Given the description of an element on the screen output the (x, y) to click on. 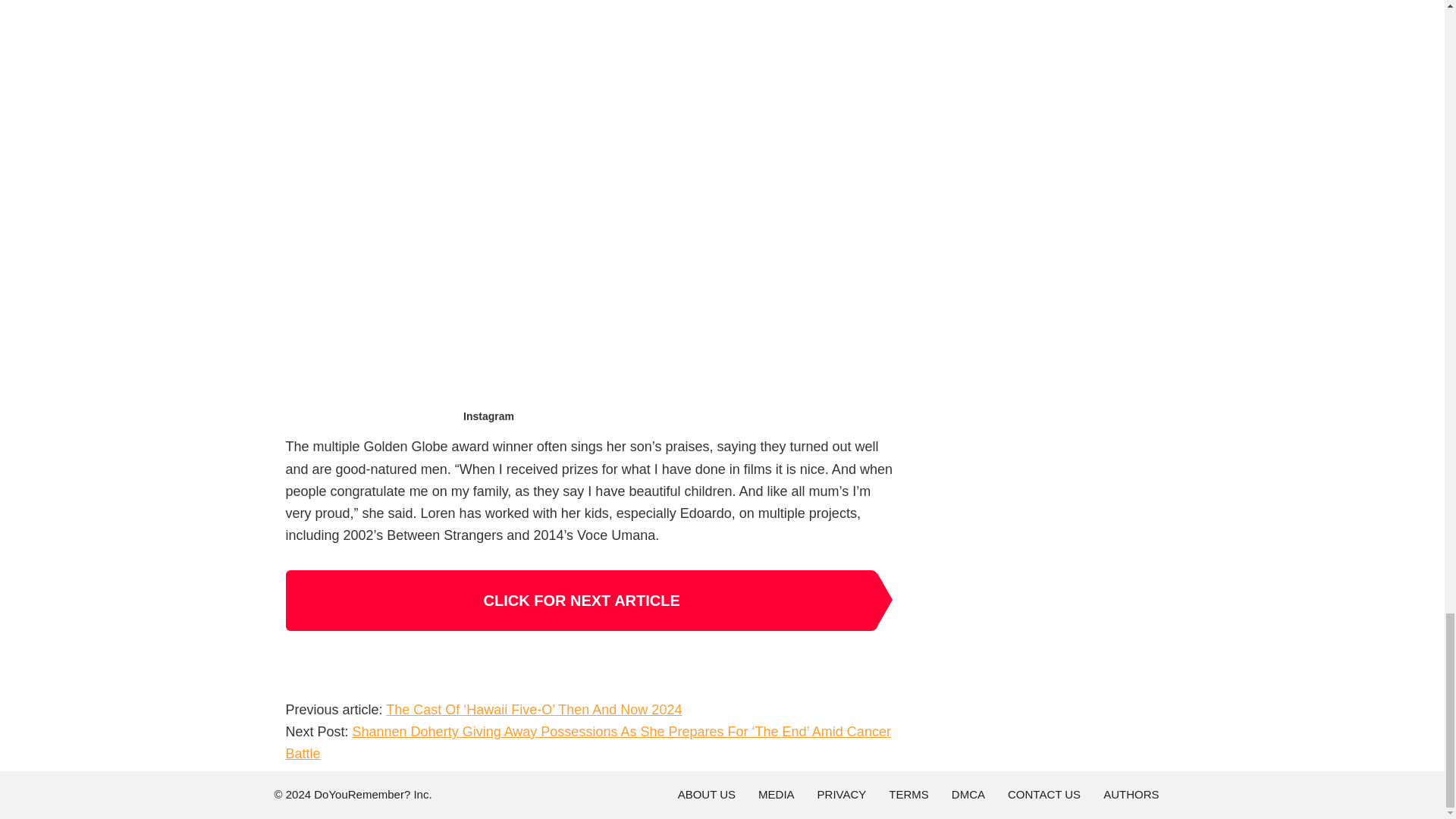
PRIVACY (841, 794)
ABOUT US (706, 794)
MEDIA (775, 794)
CLICK FOR NEXT ARTICLE (581, 600)
